Given the description of an element on the screen output the (x, y) to click on. 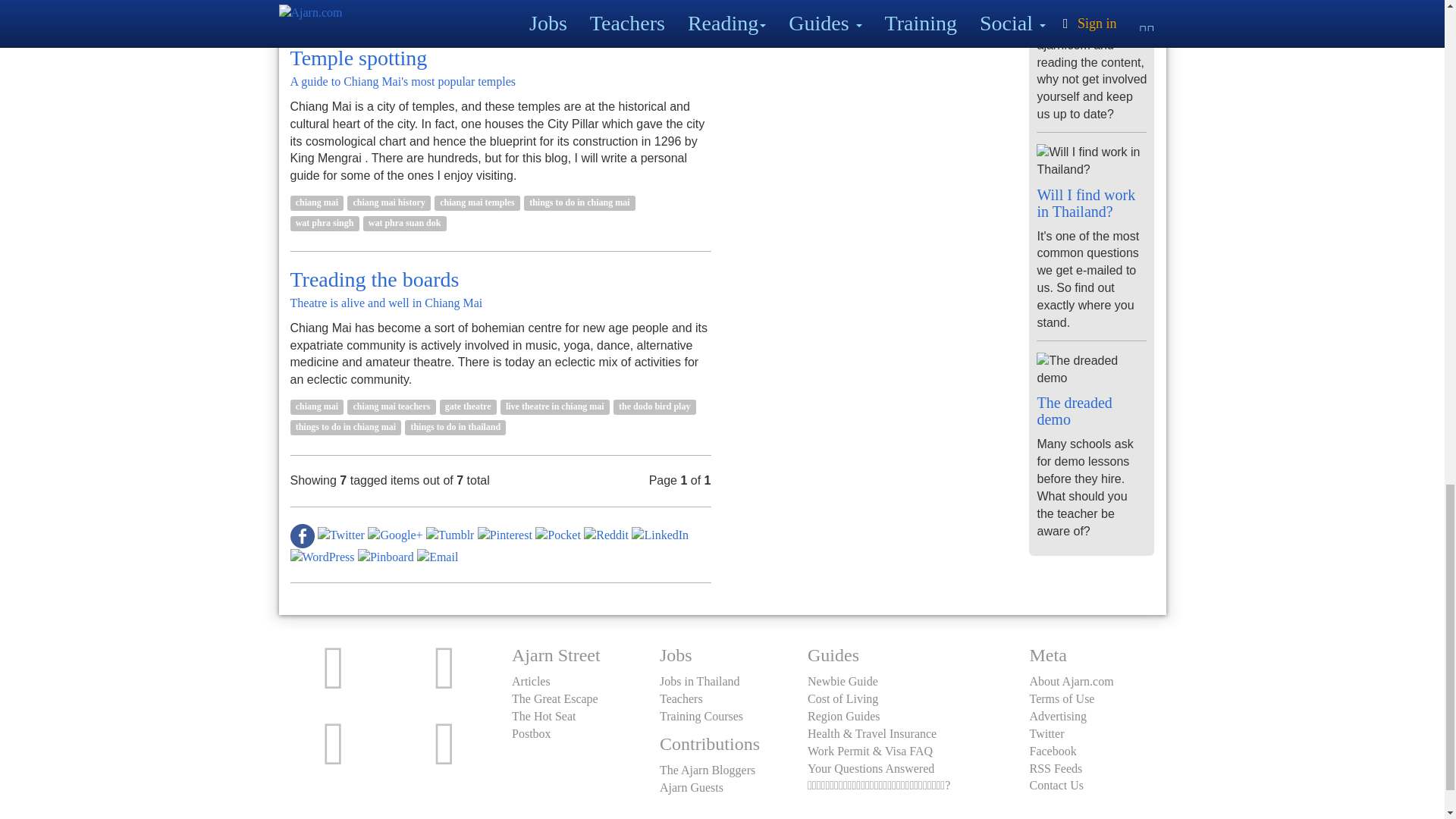
Pin it (504, 533)
Submit to Reddit (605, 533)
Share on Facebook (301, 533)
Add to Pocket (557, 533)
Post to Tumblr (450, 533)
Share on Twitter (341, 533)
